Given the description of an element on the screen output the (x, y) to click on. 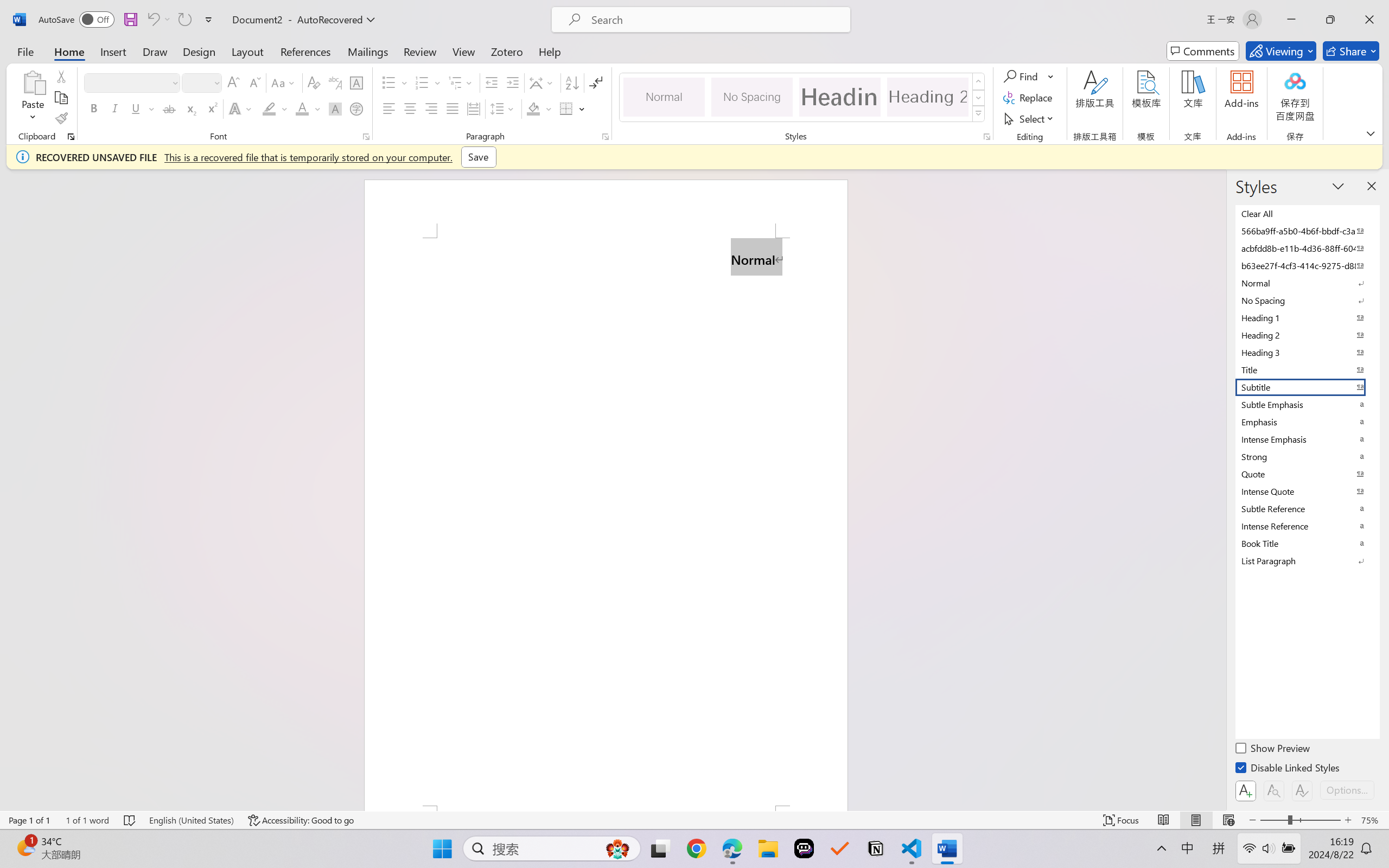
Can't Undo (158, 19)
Font... (365, 136)
Intense Reference (1306, 525)
Heading 3 (1306, 352)
Subtle Emphasis (1306, 404)
Justify (452, 108)
acbfdd8b-e11b-4d36-88ff-6049b138f862 (1306, 247)
Subtitle (1306, 386)
Book Title (1306, 543)
